Given the description of an element on the screen output the (x, y) to click on. 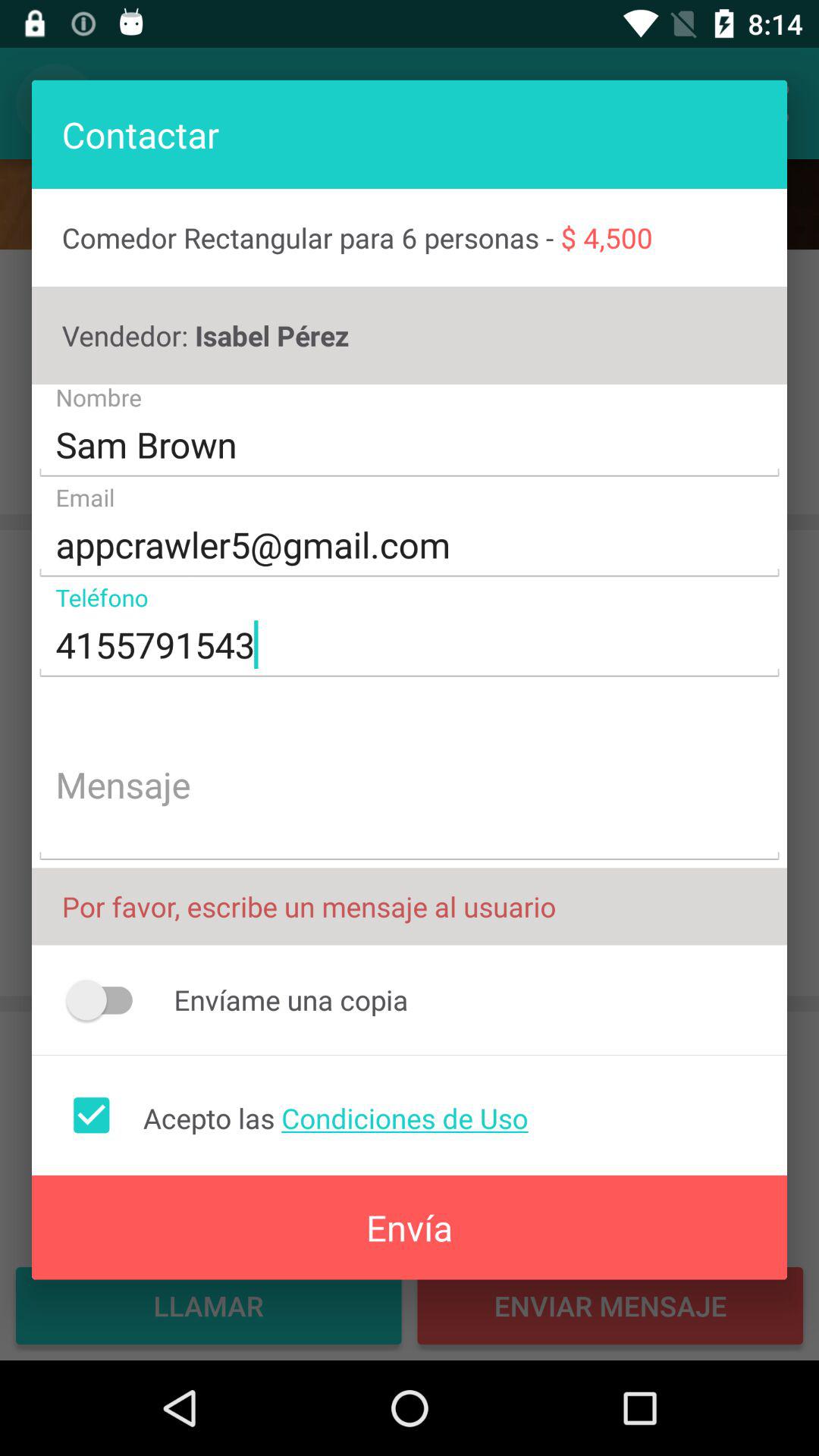
turn on the icon above appcrawler5@gmail.com (409, 445)
